Given the description of an element on the screen output the (x, y) to click on. 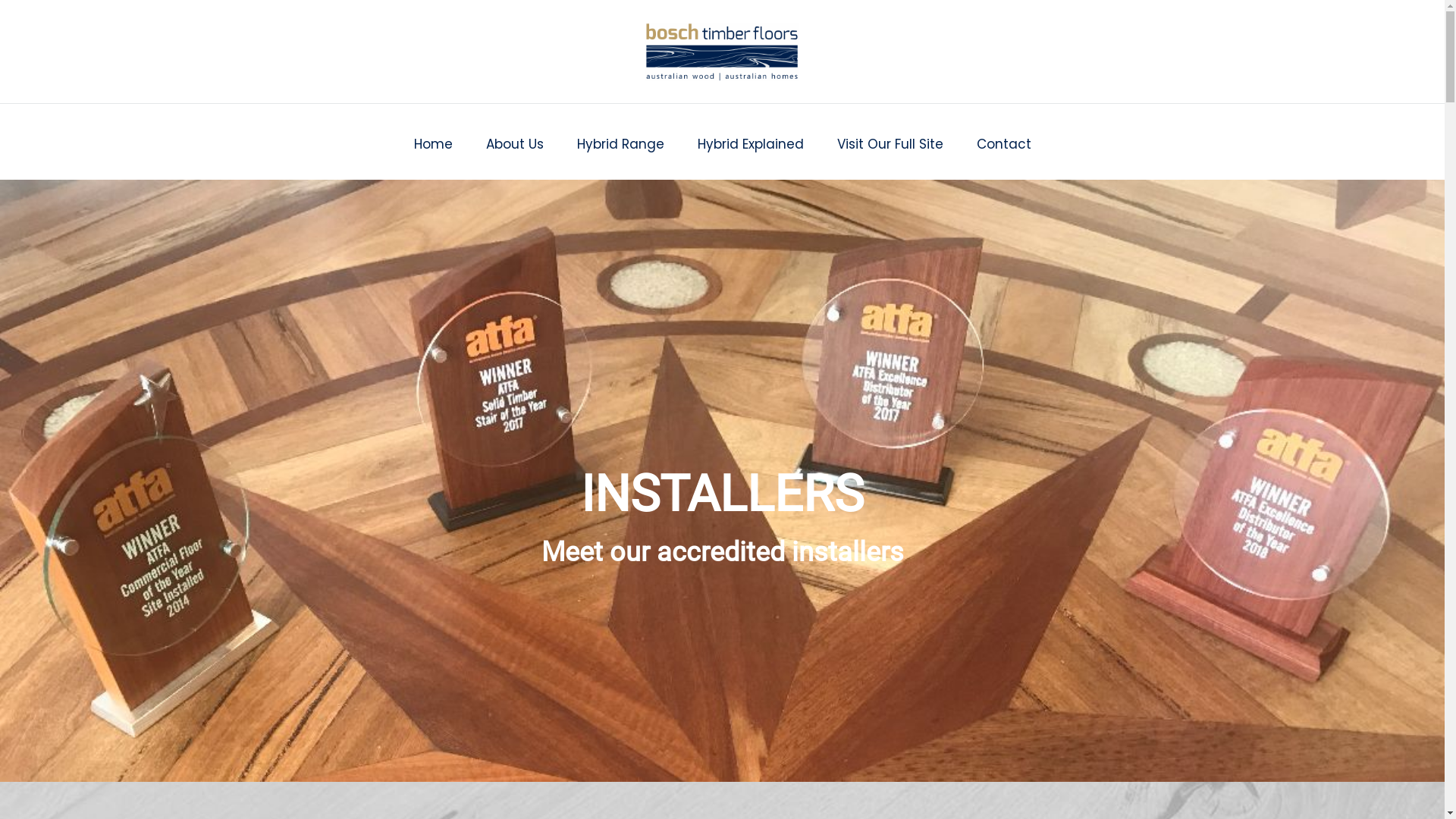
Hybrid Range Element type: text (619, 140)
Visit Our Full Site Element type: text (890, 140)
Home Element type: text (433, 140)
Contact Element type: text (1004, 140)
Hybrid Explained Element type: text (750, 140)
About Us Element type: text (513, 140)
